Given the description of an element on the screen output the (x, y) to click on. 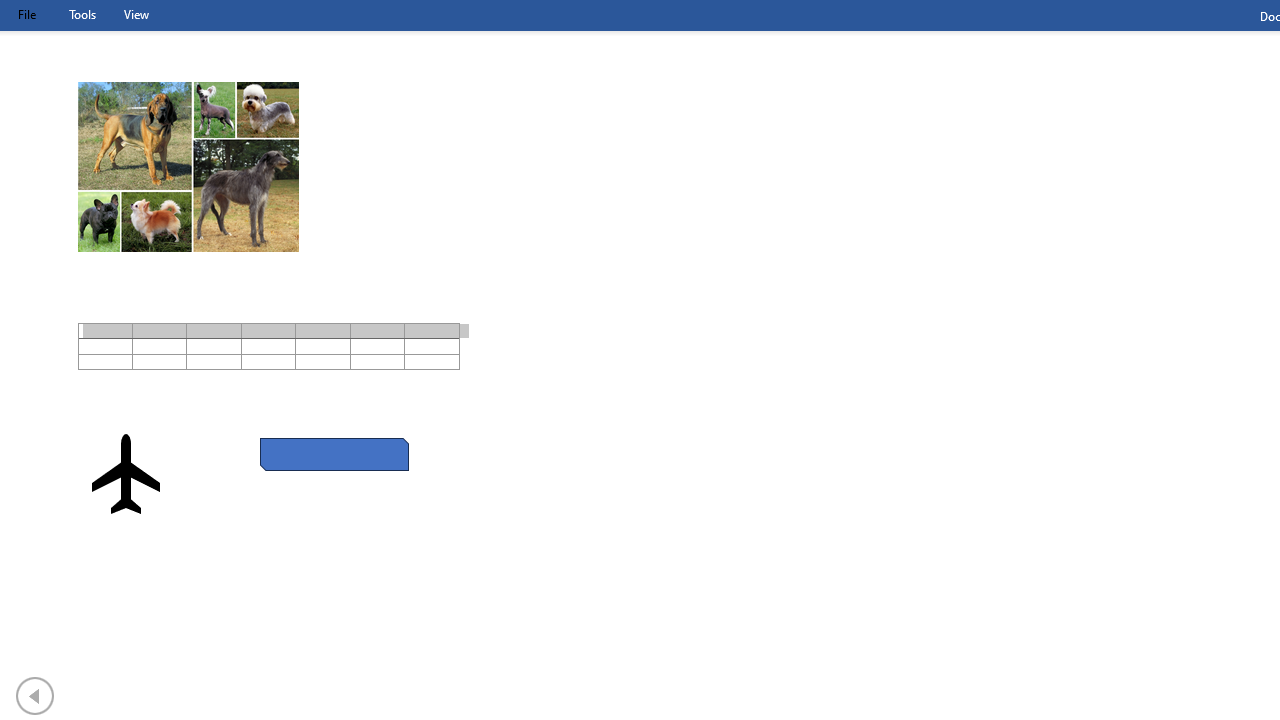
Morphological variation in six dogs (188, 166)
Rectangle: Diagonal Corners Snipped 2 (334, 453)
Tools (82, 14)
Airplane with solid fill (126, 474)
